Given the description of an element on the screen output the (x, y) to click on. 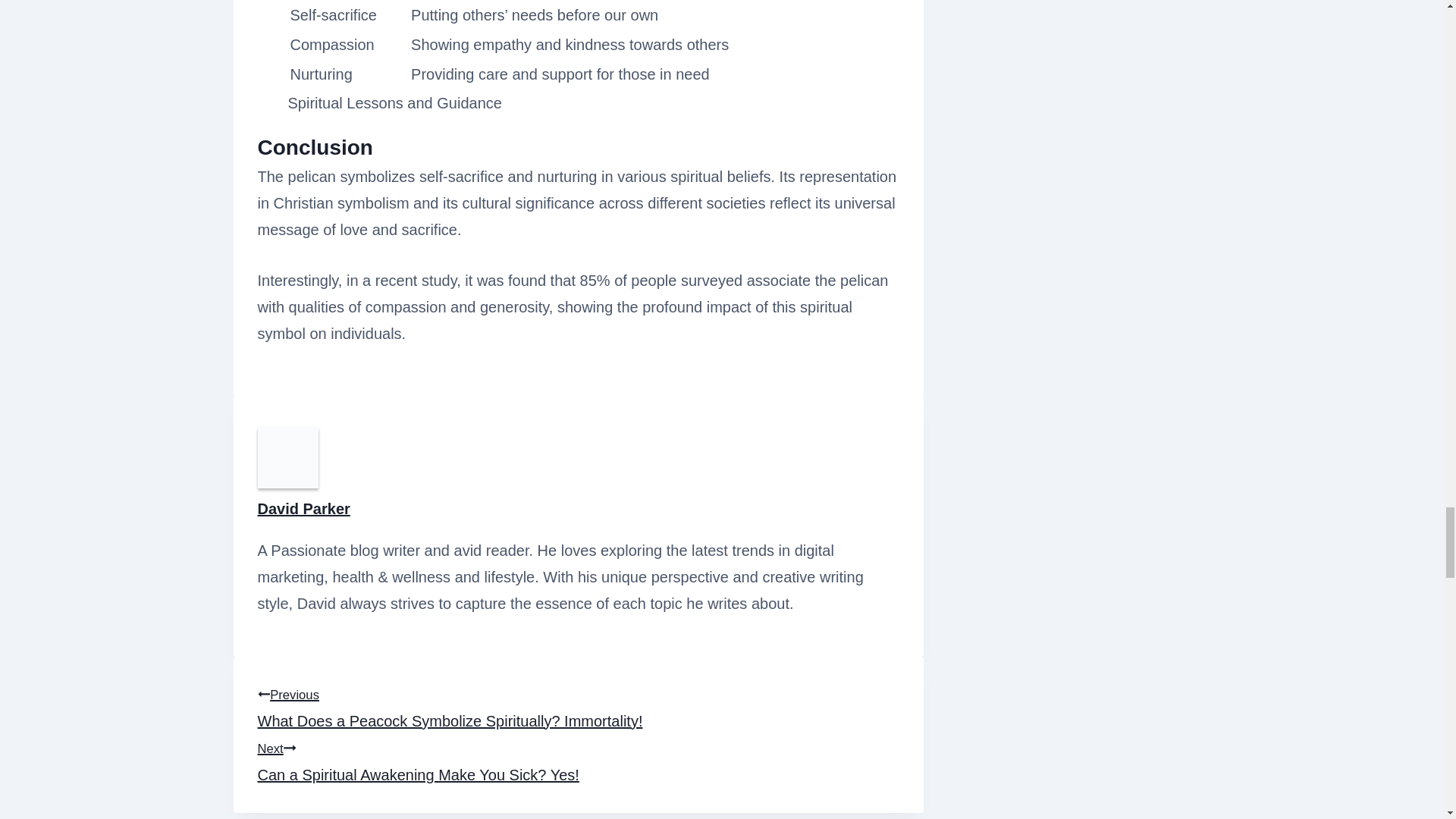
David Parker (303, 508)
Posts by David Parker (303, 508)
